Given the description of an element on the screen output the (x, y) to click on. 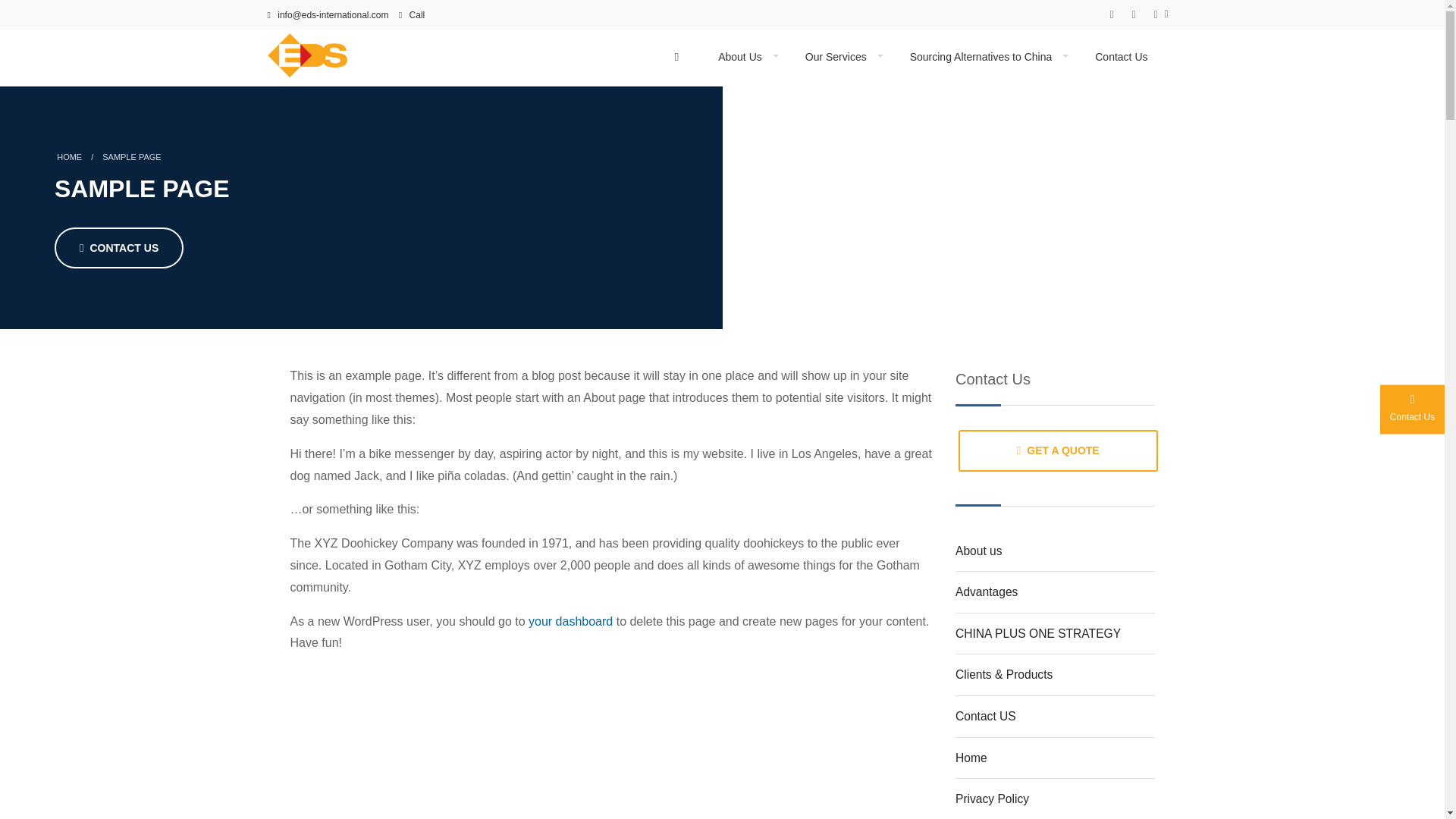
Our Services (844, 57)
Email (331, 14)
Sourcing Alternatives to China (988, 57)
Get a Quote (1057, 449)
About Us (748, 57)
Call (415, 18)
